Given the description of an element on the screen output the (x, y) to click on. 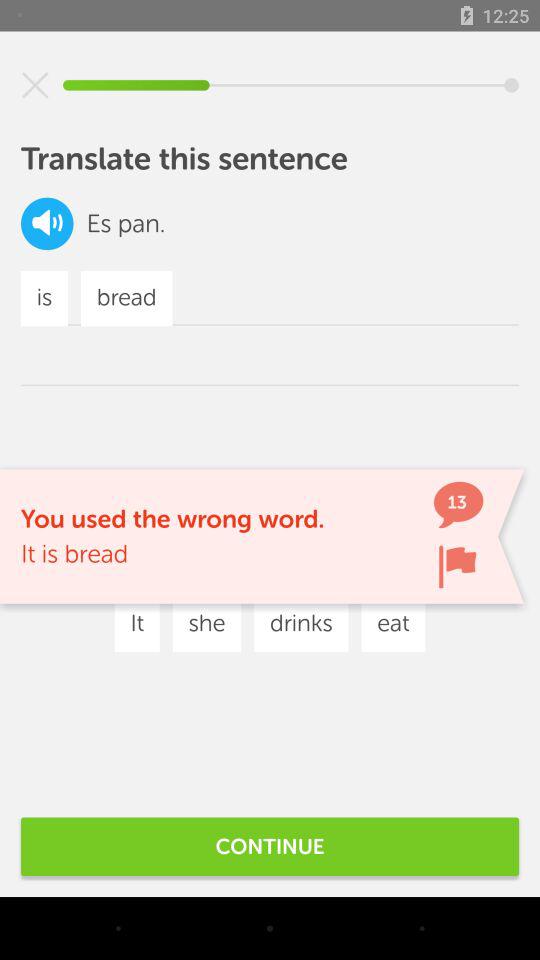
tap the item above is (47, 223)
